Given the description of an element on the screen output the (x, y) to click on. 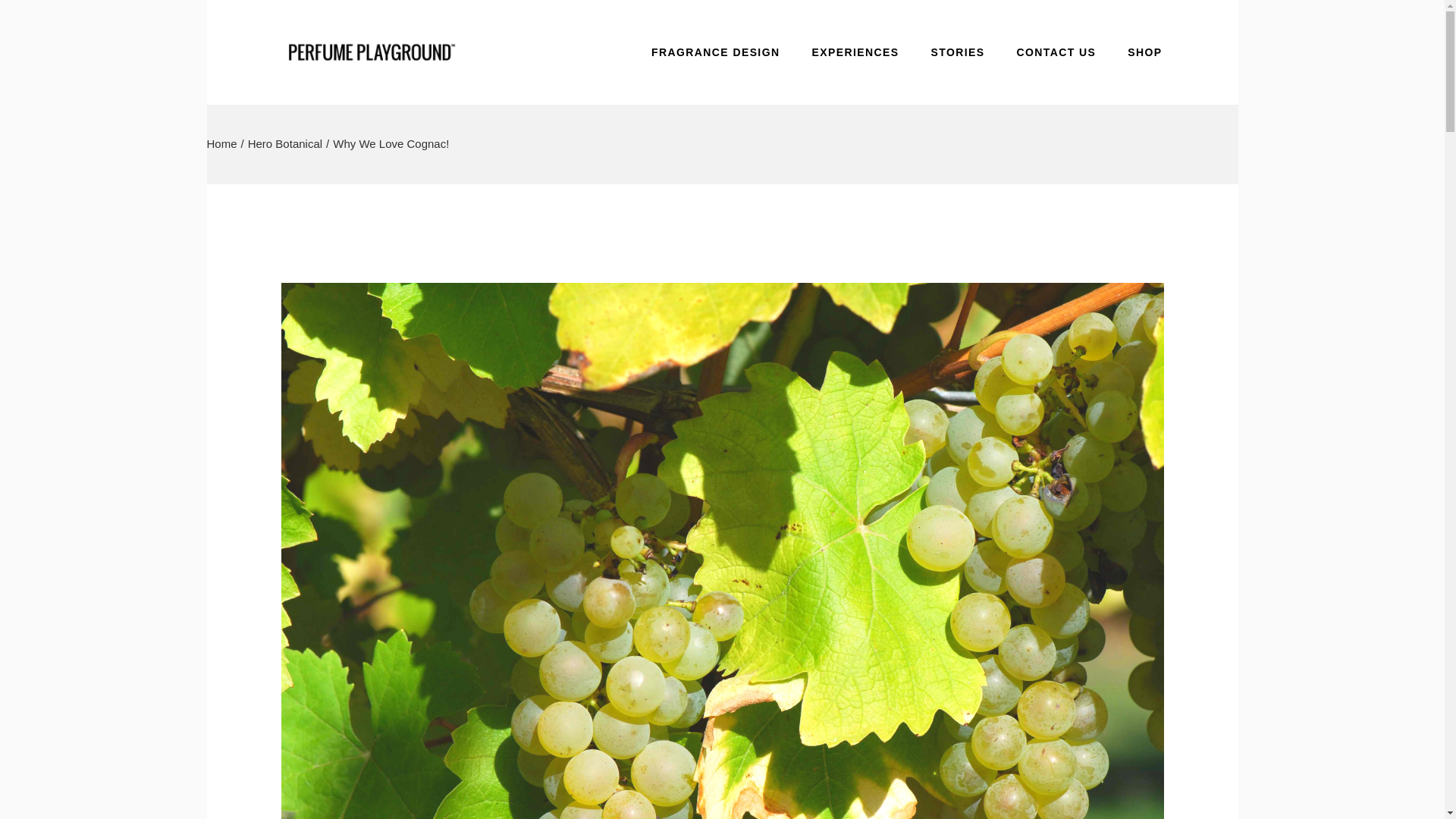
FRAGRANCE DESIGN (714, 52)
